Given the description of an element on the screen output the (x, y) to click on. 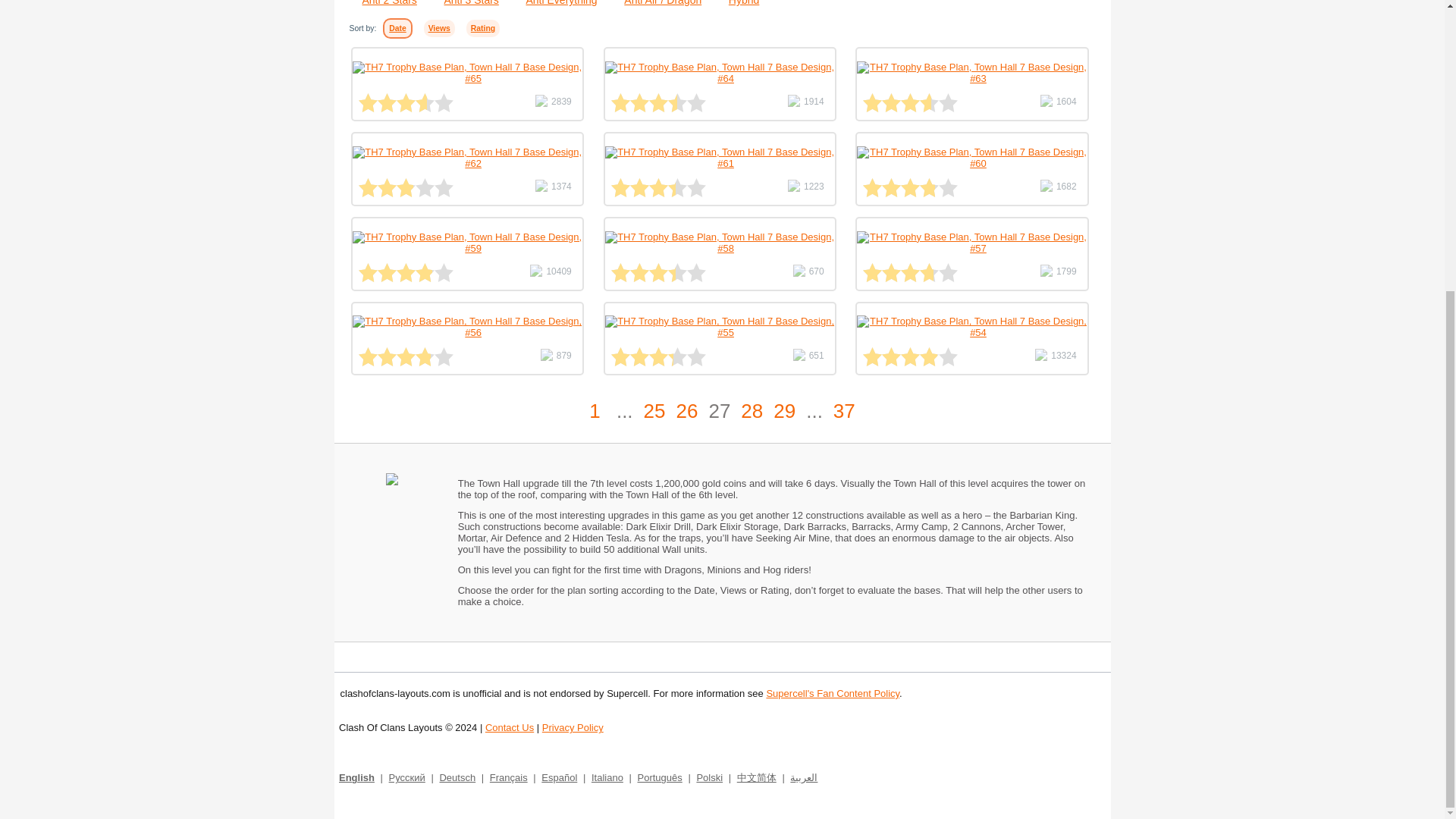
Anti 2 Stars (381, 2)
Rating (482, 27)
Views (438, 27)
Date (397, 28)
Anti 3 Stars (463, 2)
Tag Hybrid (734, 2)
Anti Everything (552, 2)
Contact Us (509, 727)
Tag Anti 2 Stars (381, 2)
Tag Anti 3 Stars (463, 2)
Hybrid (734, 2)
Privacy Policy (572, 727)
Tag Anti Everything (552, 2)
